Given the description of an element on the screen output the (x, y) to click on. 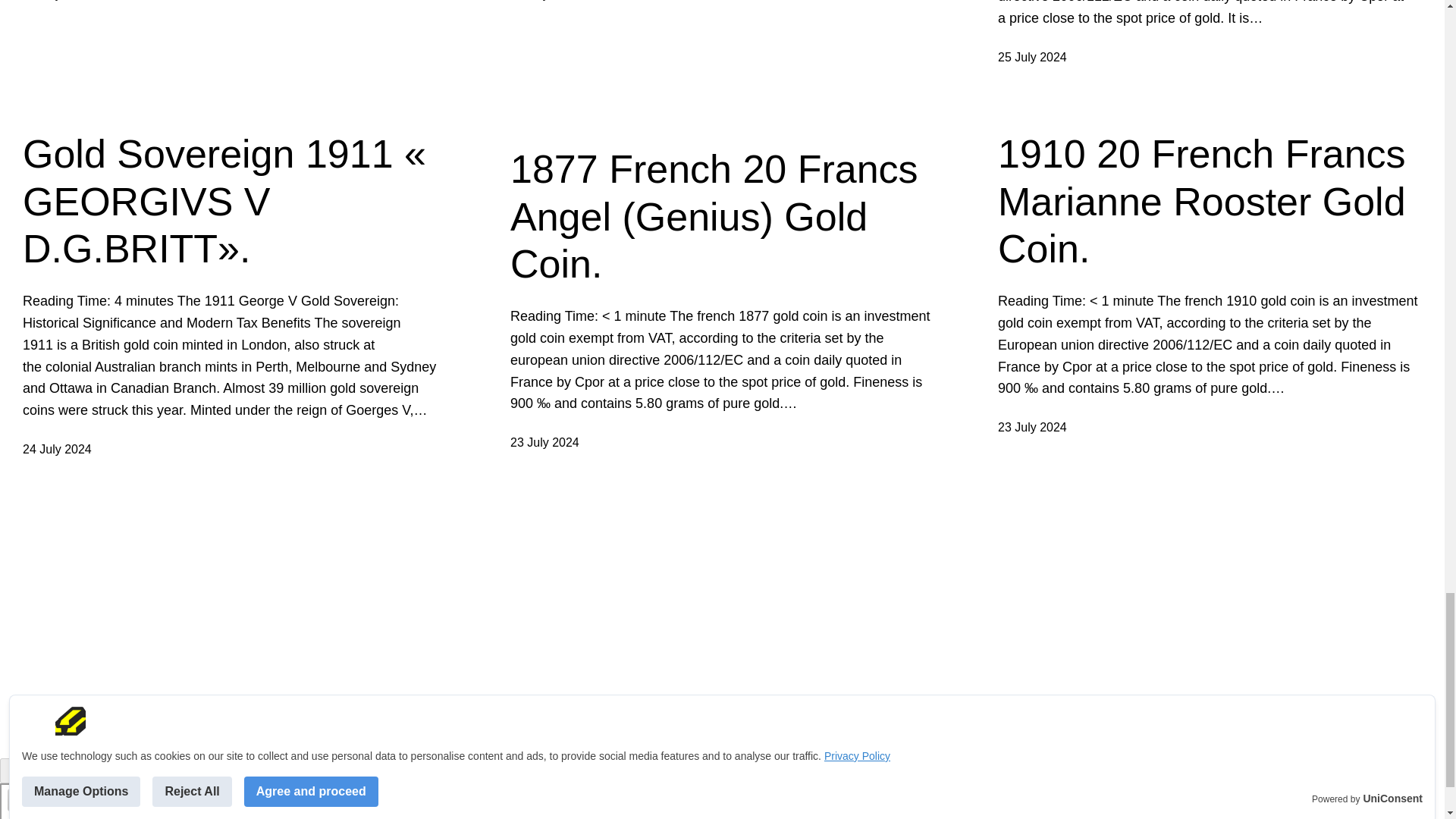
1910 20 French Francs Marianne Rooster Gold Coin. (1209, 200)
